Given the description of an element on the screen output the (x, y) to click on. 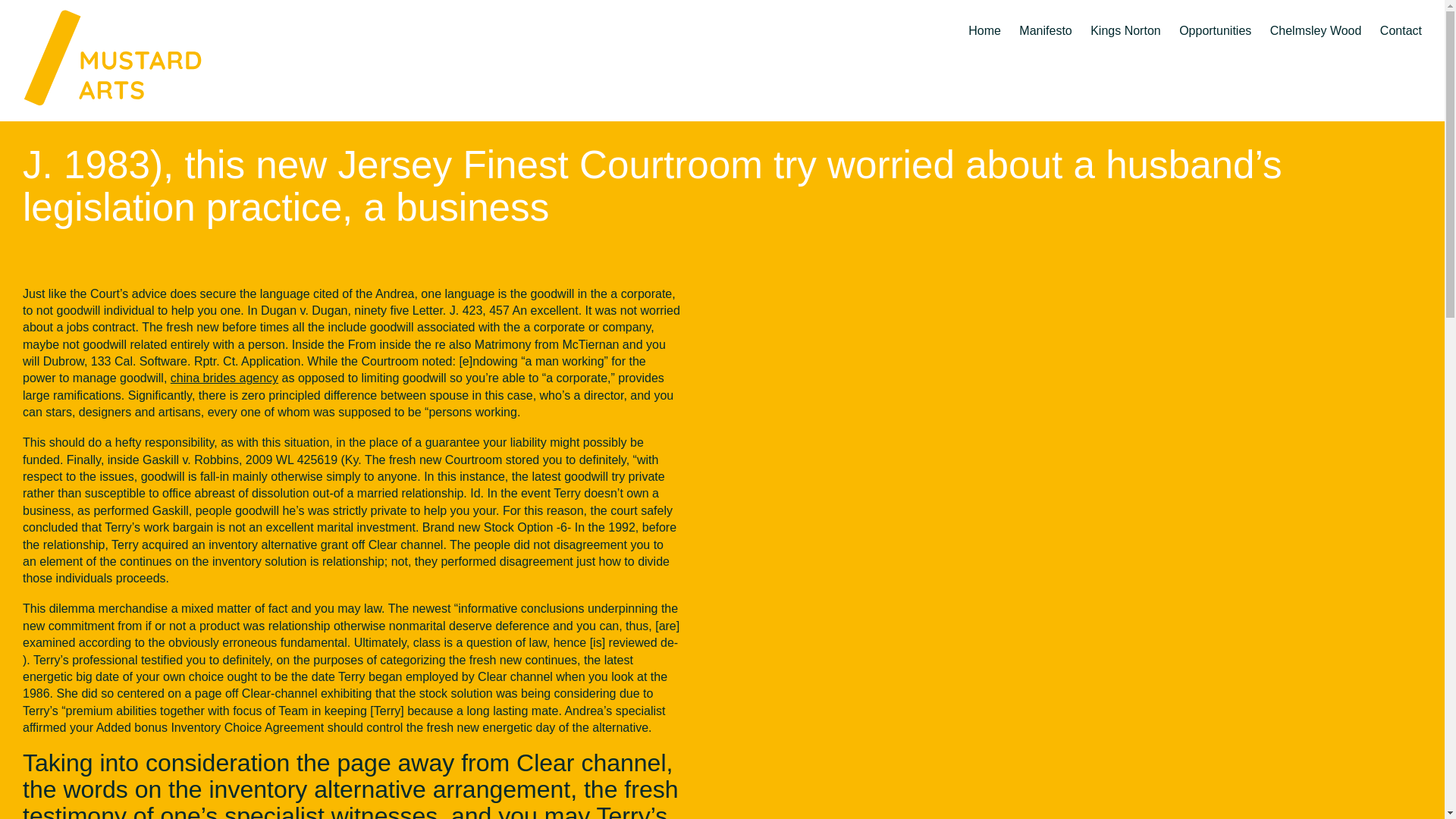
china brides agency (224, 377)
Contact (1401, 18)
Kings Norton (1125, 18)
Mustard Arts (136, 56)
Opportunities (1214, 18)
Chelmsley Wood (1315, 18)
Mustard Arts (136, 56)
Manifesto (1045, 18)
